Given the description of an element on the screen output the (x, y) to click on. 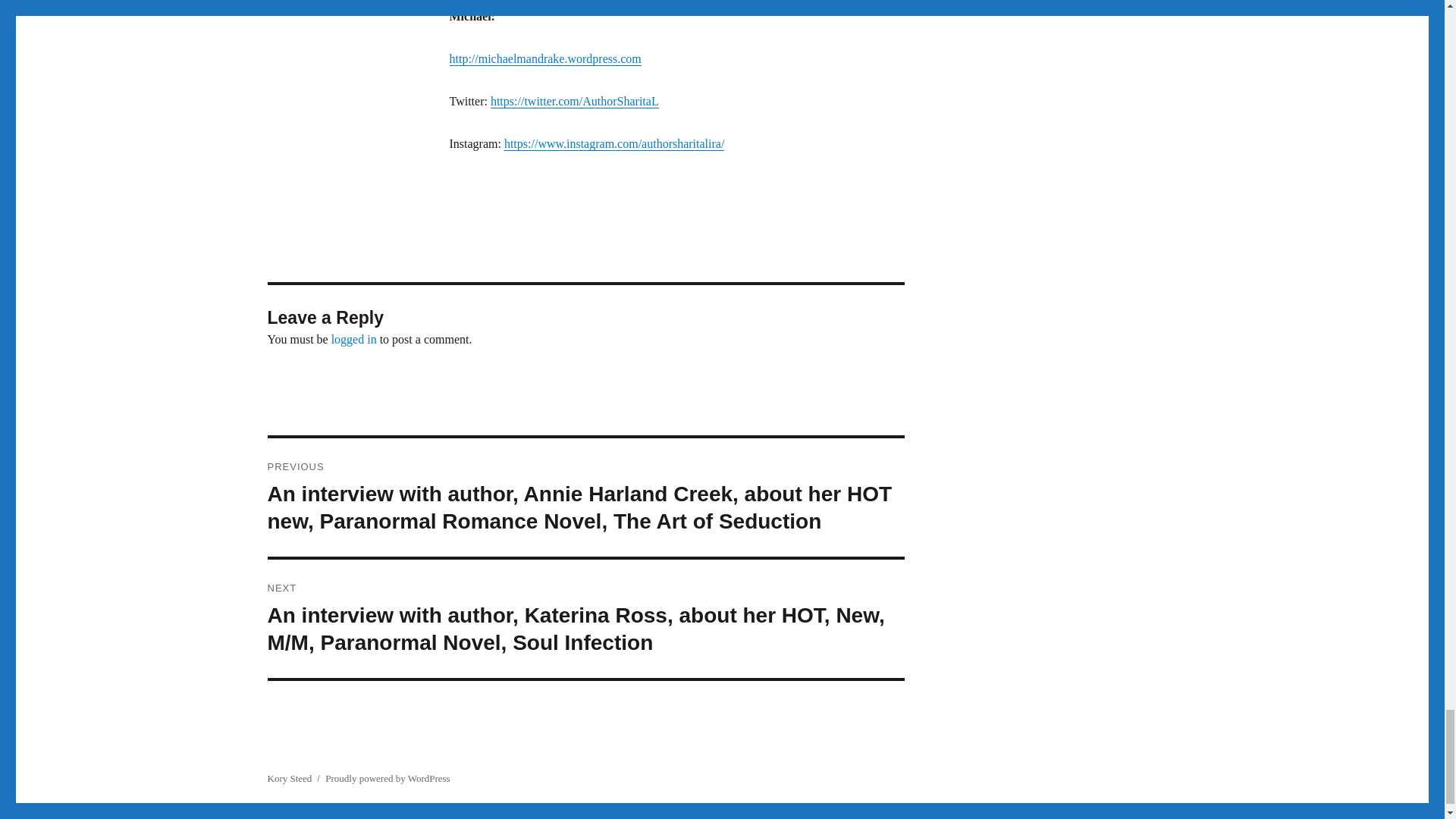
logged in (354, 338)
